Given the description of an element on the screen output the (x, y) to click on. 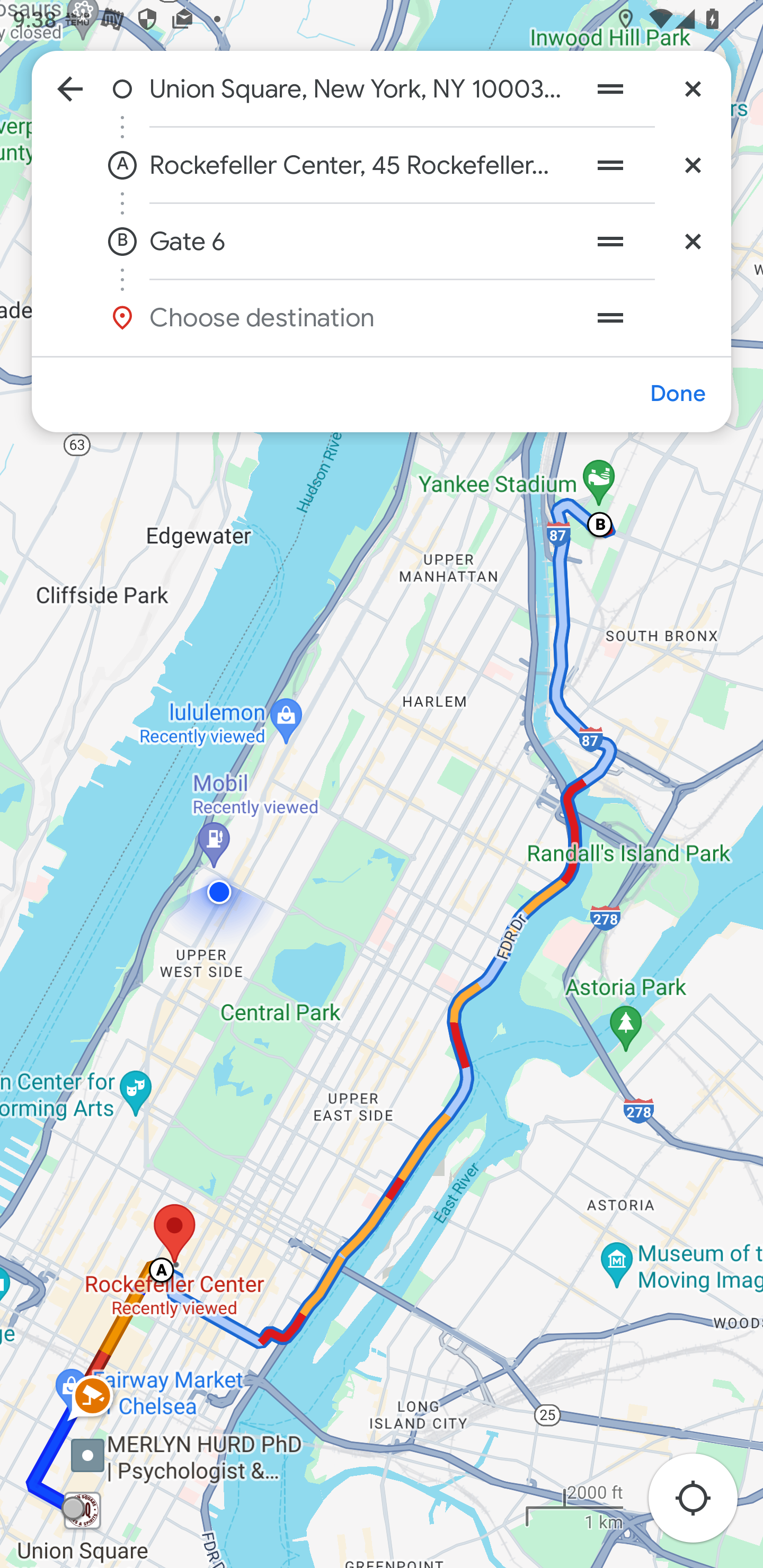
Navigate up (70, 88)
Drag waypoint Gate 6 (610, 241)
Remove waypoint Gate 6 (692, 241)
Drag waypoint Choose destination (648, 317)
Done (676, 393)
Re-center map to your location (702, 1503)
